Given the description of an element on the screen output the (x, y) to click on. 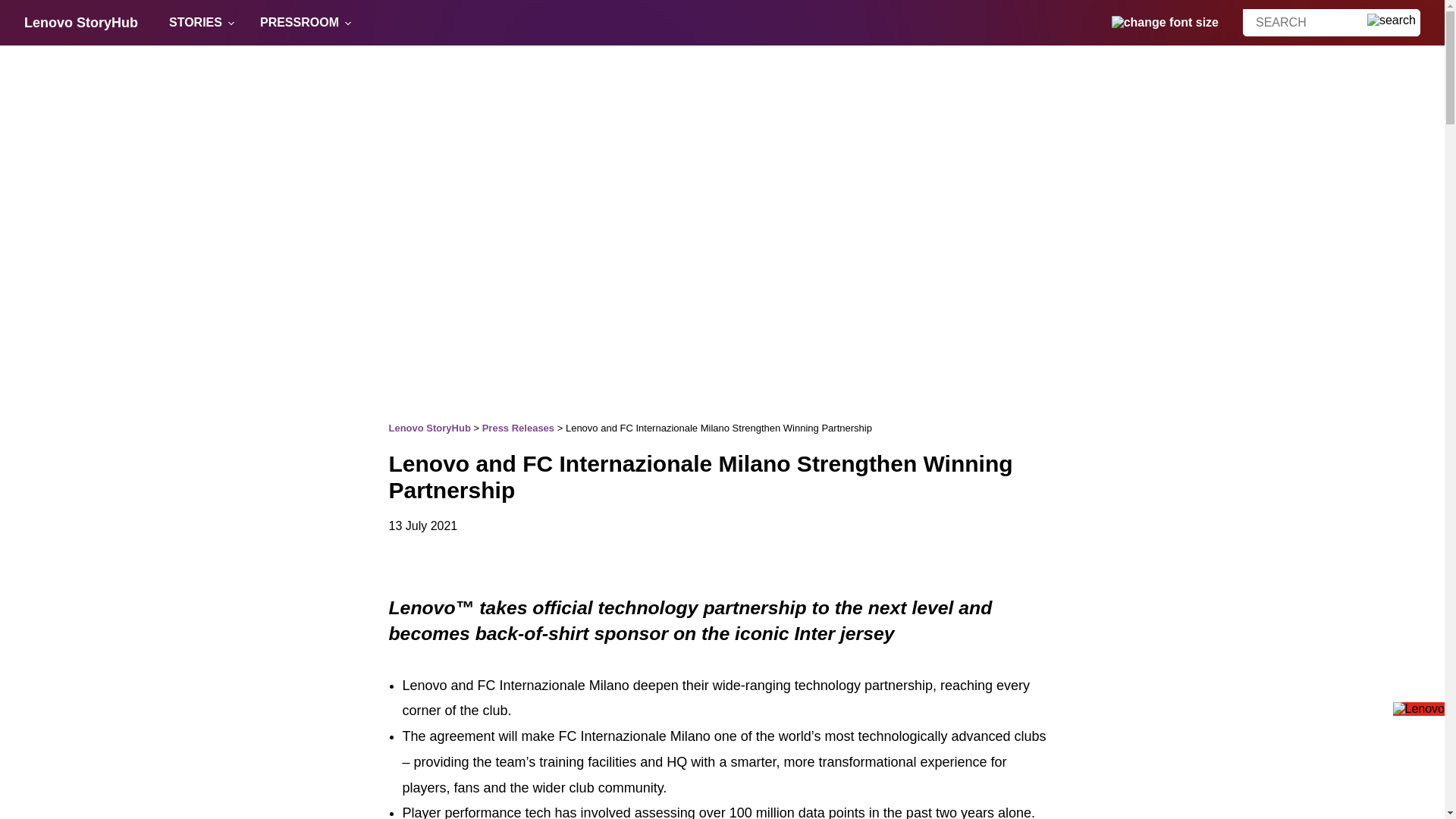
Lenovo StoryHub (81, 23)
STORIES (195, 22)
Lenovo StoryHub (81, 23)
Lenovo StoryHub (429, 428)
PRESSROOM (299, 22)
Press Releases (517, 428)
